Given the description of an element on the screen output the (x, y) to click on. 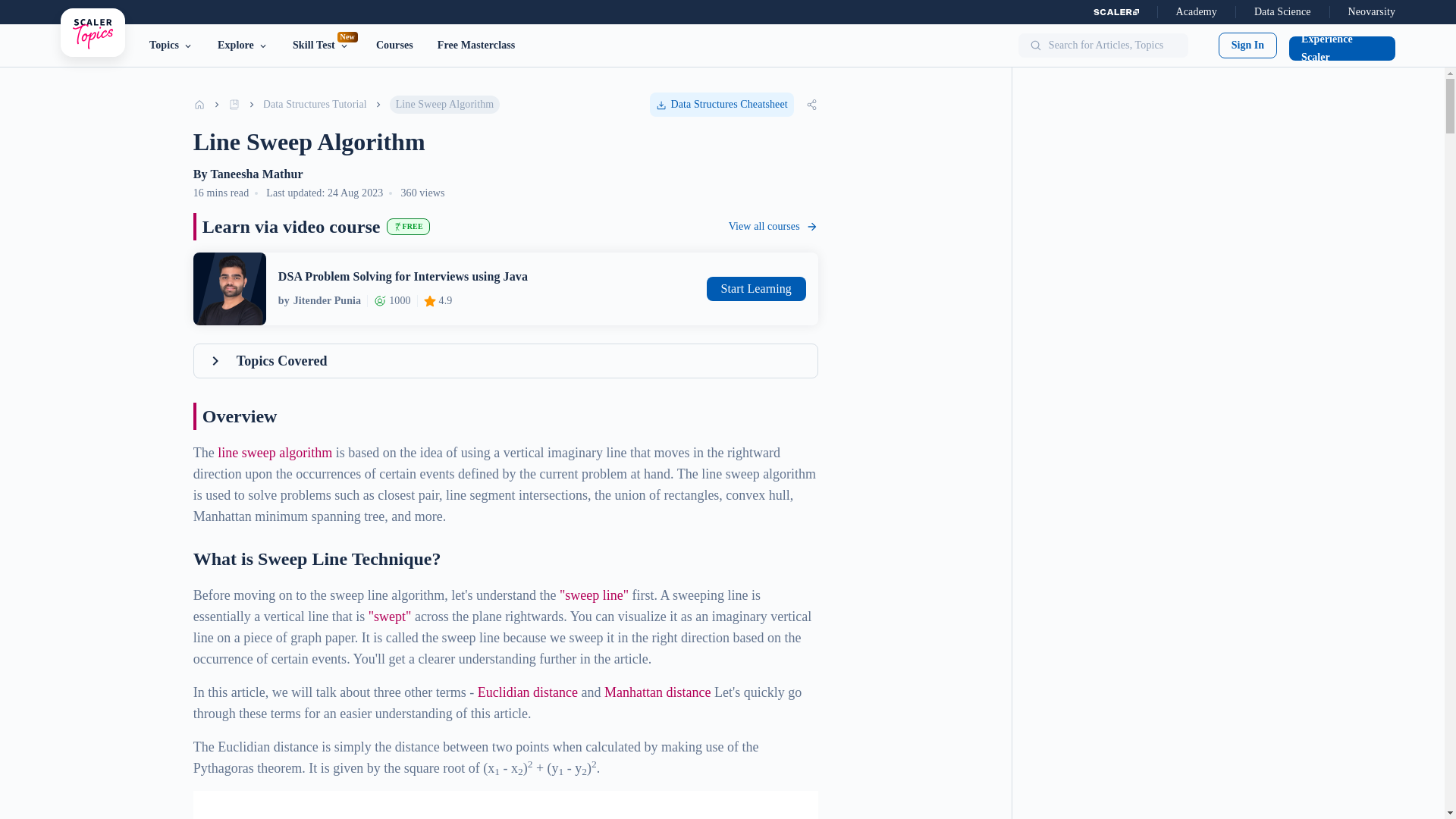
Data Science (1282, 12)
Neovarsity (1371, 12)
Data Structures Tutorial (314, 104)
Data Structures Cheatsheet (721, 104)
Sign In (1247, 45)
Academy (1196, 12)
Free Masterclass (476, 44)
Topics Covered (504, 360)
Topics (321, 44)
Courses (170, 44)
Experience Scaler (394, 44)
View all courses (1341, 48)
Start Learning (773, 226)
Explore (756, 288)
